Given the description of an element on the screen output the (x, y) to click on. 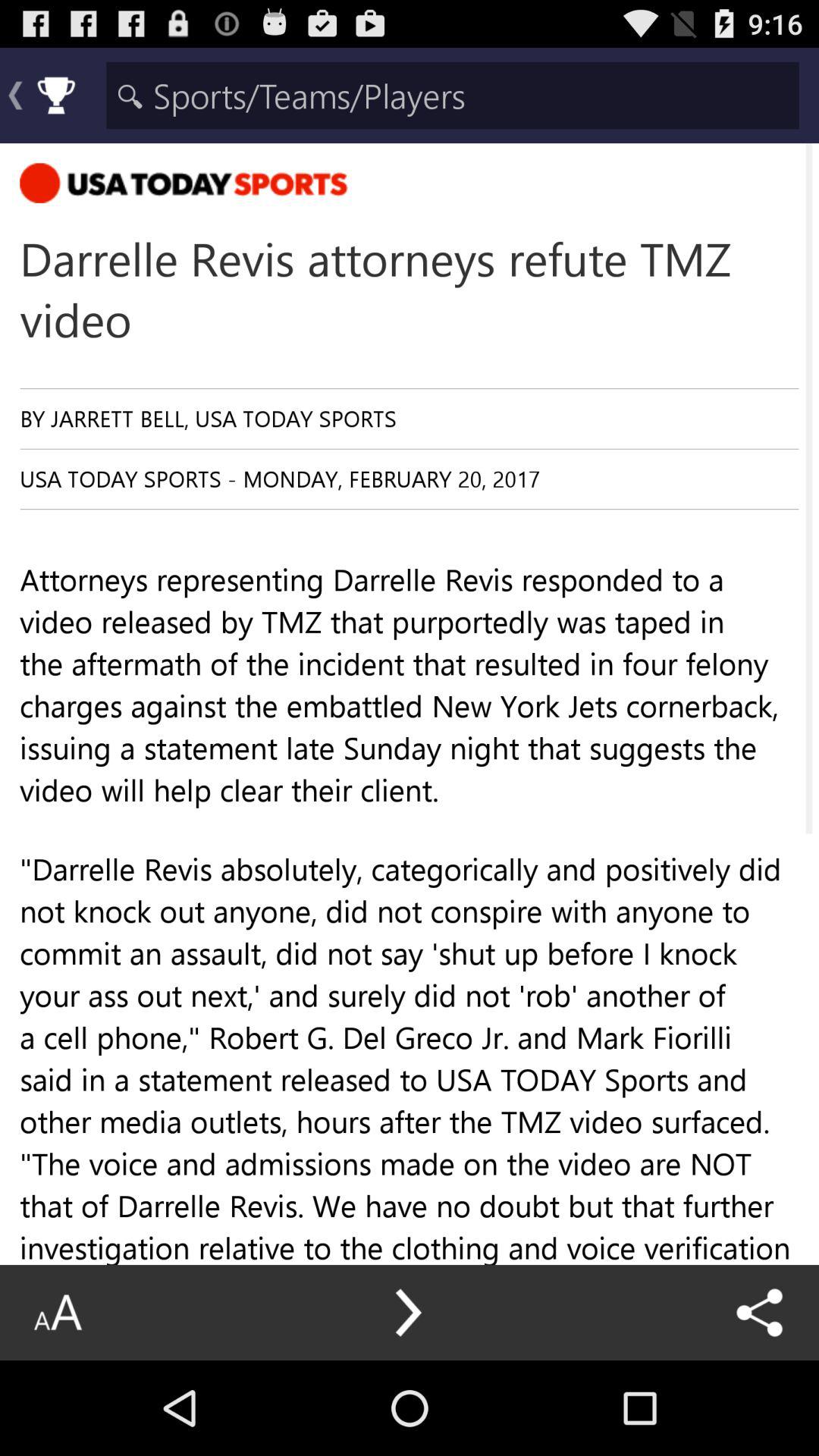
turn off item at the bottom right corner (759, 1312)
